Given the description of an element on the screen output the (x, y) to click on. 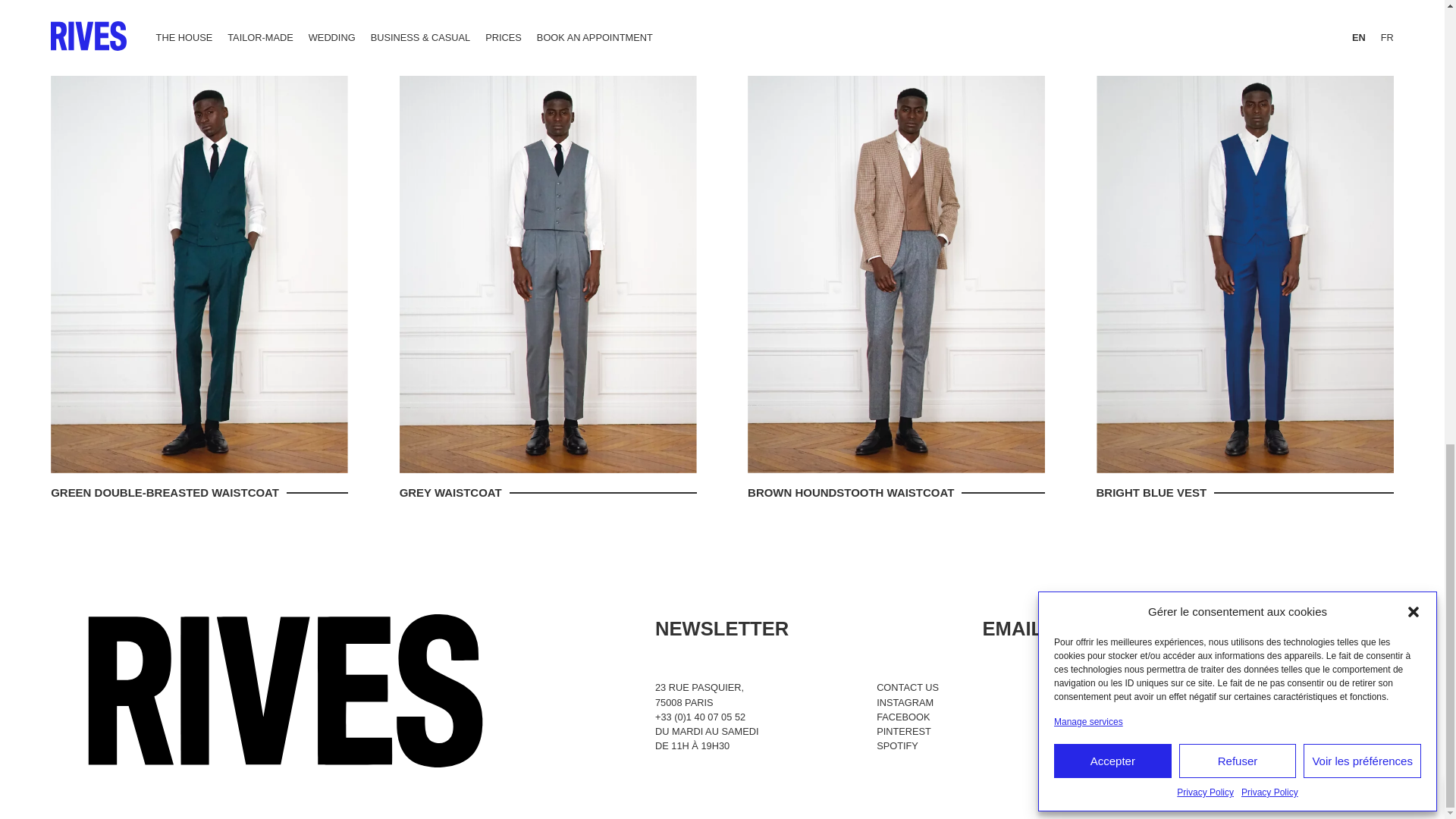
Subscribe (1336, 629)
